Given the description of an element on the screen output the (x, y) to click on. 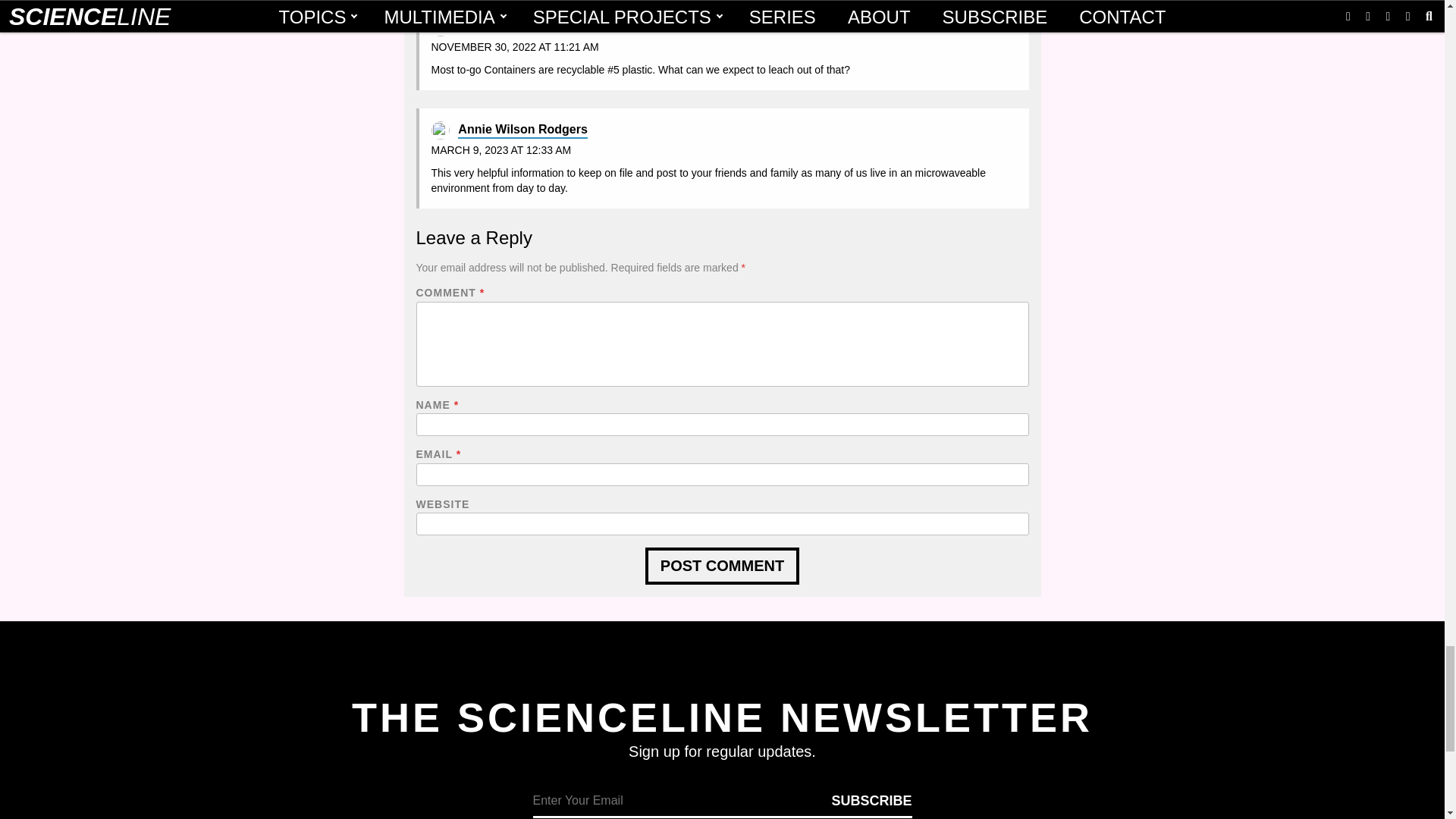
Post Comment (722, 565)
